Given the description of an element on the screen output the (x, y) to click on. 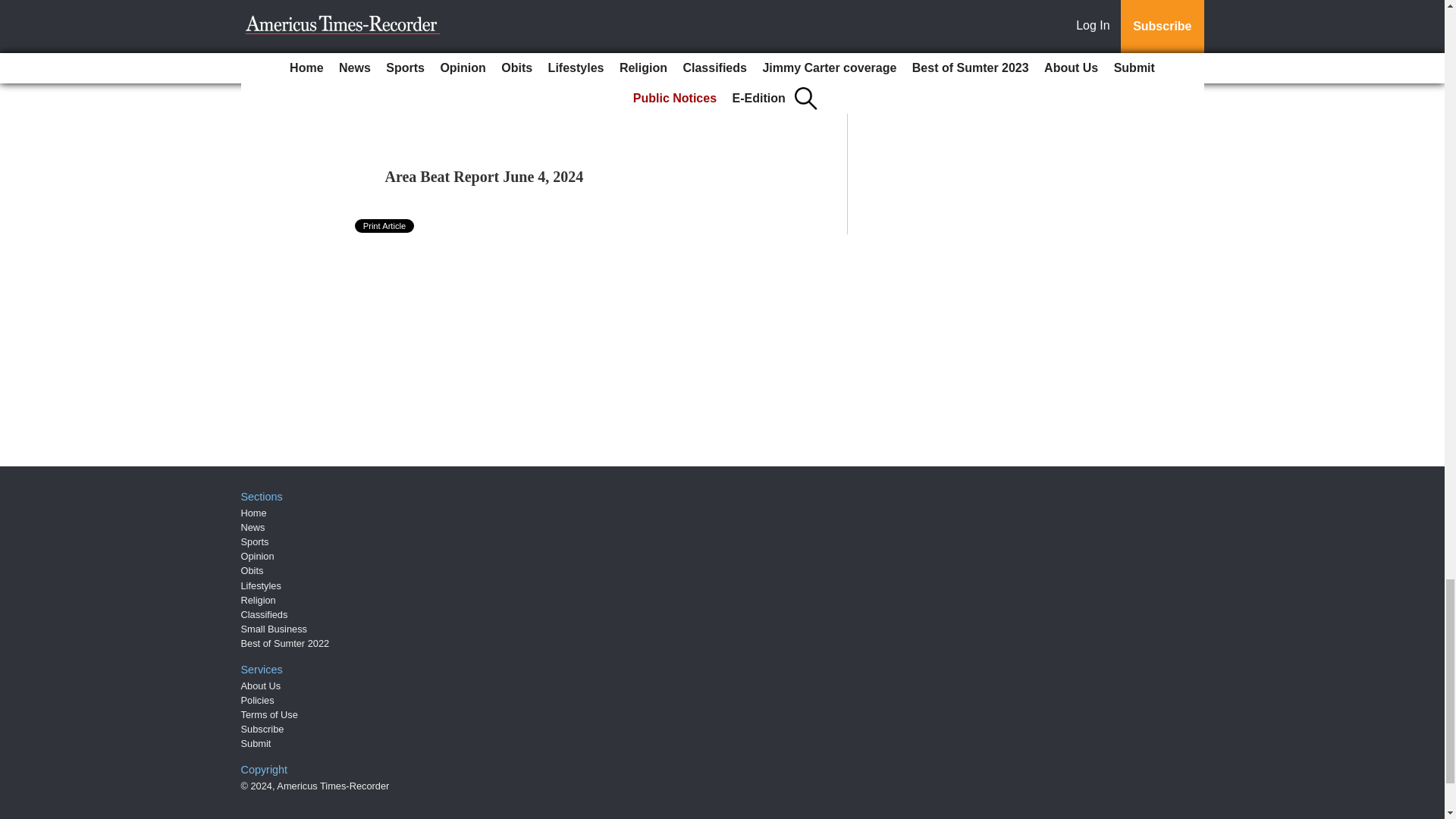
Area Beat Report June 4, 2024 (484, 176)
Home (253, 512)
Area Beat Report June 4, 2024 (484, 176)
Print Article (384, 225)
News (252, 527)
